Given the description of an element on the screen output the (x, y) to click on. 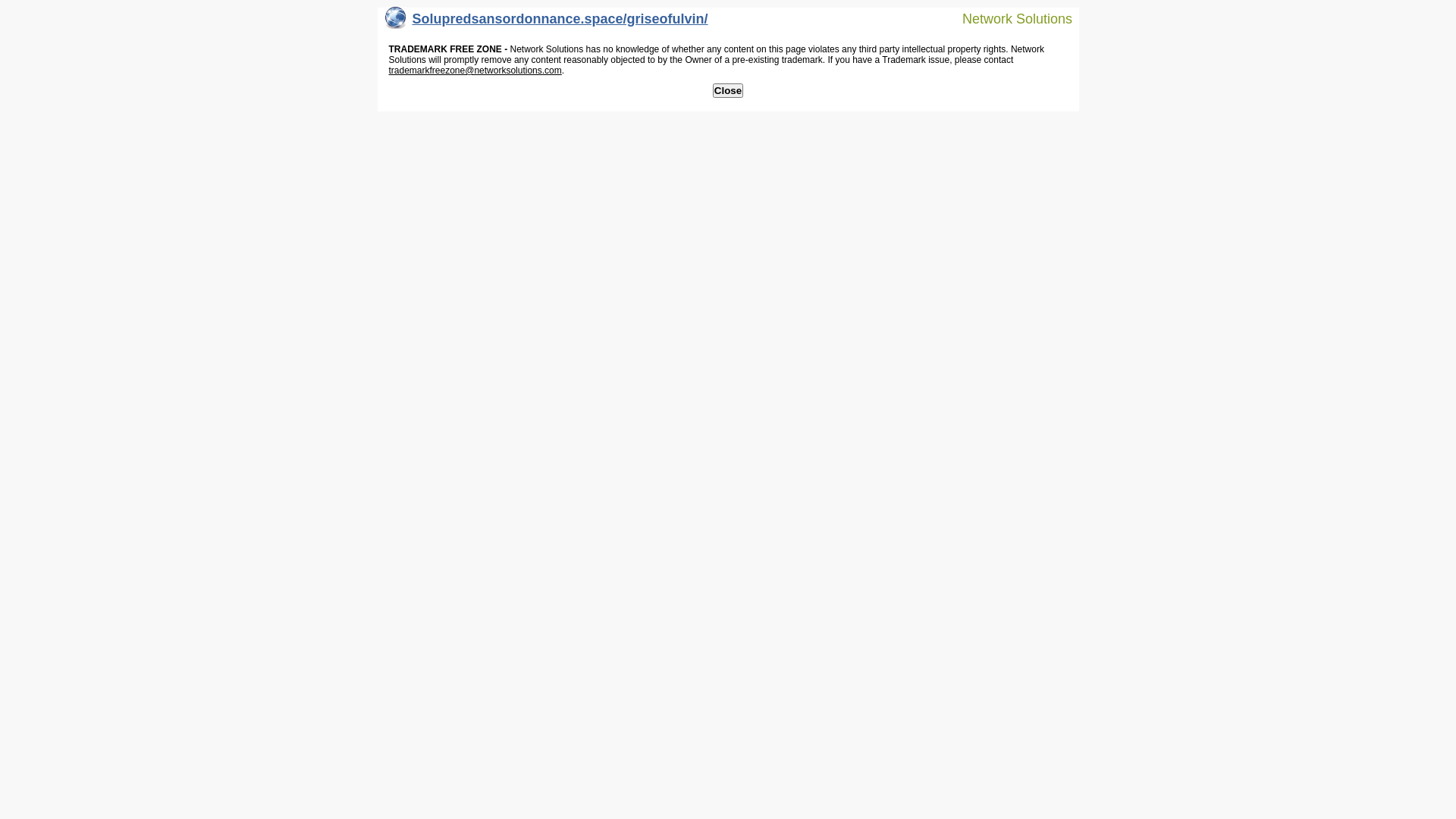
Network Solutions Element type: text (1007, 17)
Close Element type: text (727, 90)
trademarkfreezone@networksolutions.com Element type: text (474, 70)
Solupredsansordonnance.space/griseofulvin/ Element type: text (546, 21)
